Given the description of an element on the screen output the (x, y) to click on. 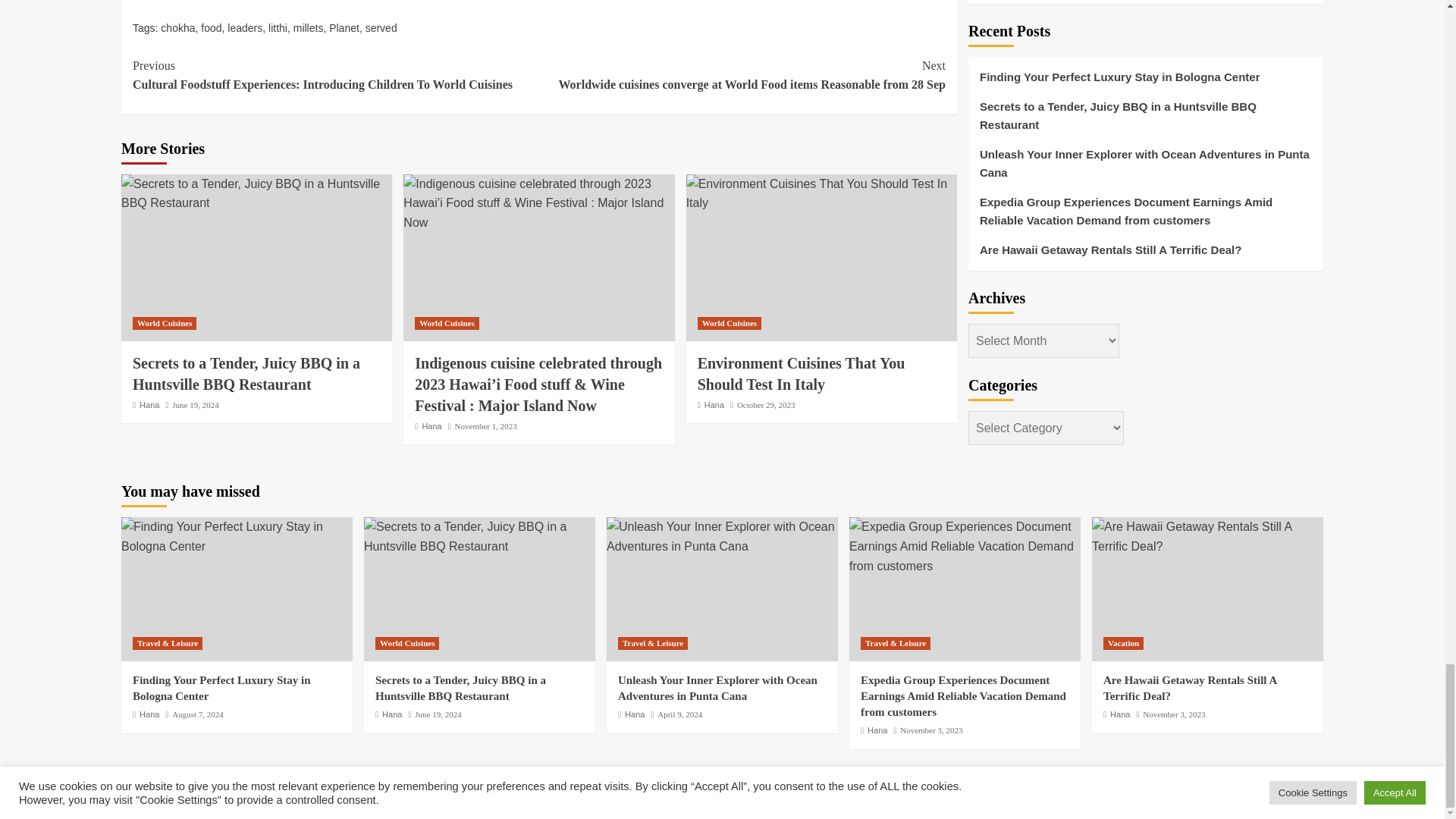
Planet (344, 28)
Hana (148, 404)
leaders (244, 28)
food (210, 28)
World Cuisines (164, 323)
litthi (276, 28)
June 19, 2024 (194, 404)
